Given the description of an element on the screen output the (x, y) to click on. 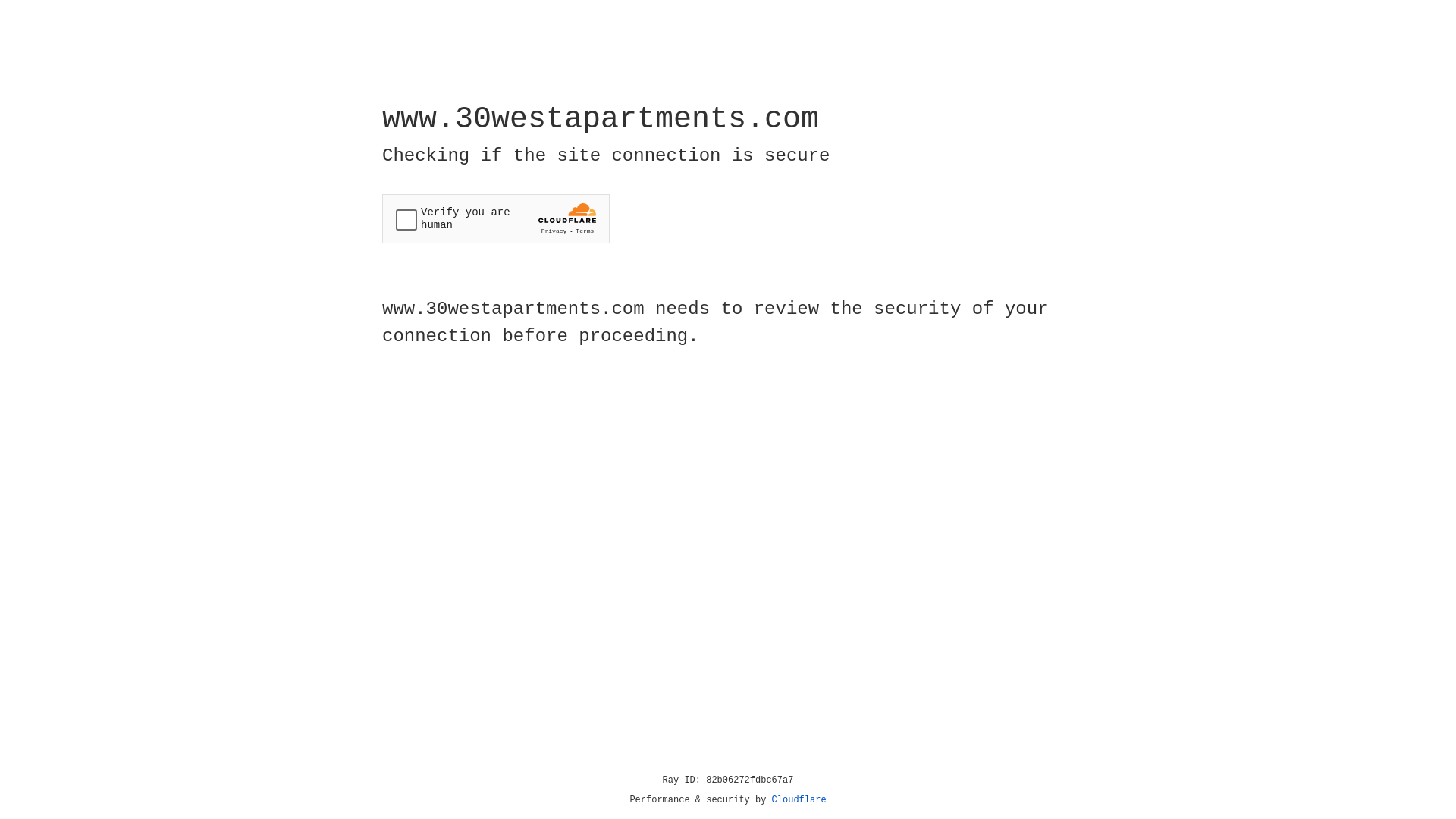
Widget containing a Cloudflare security challenge Element type: hover (495, 218)
Cloudflare Element type: text (798, 799)
